Given the description of an element on the screen output the (x, y) to click on. 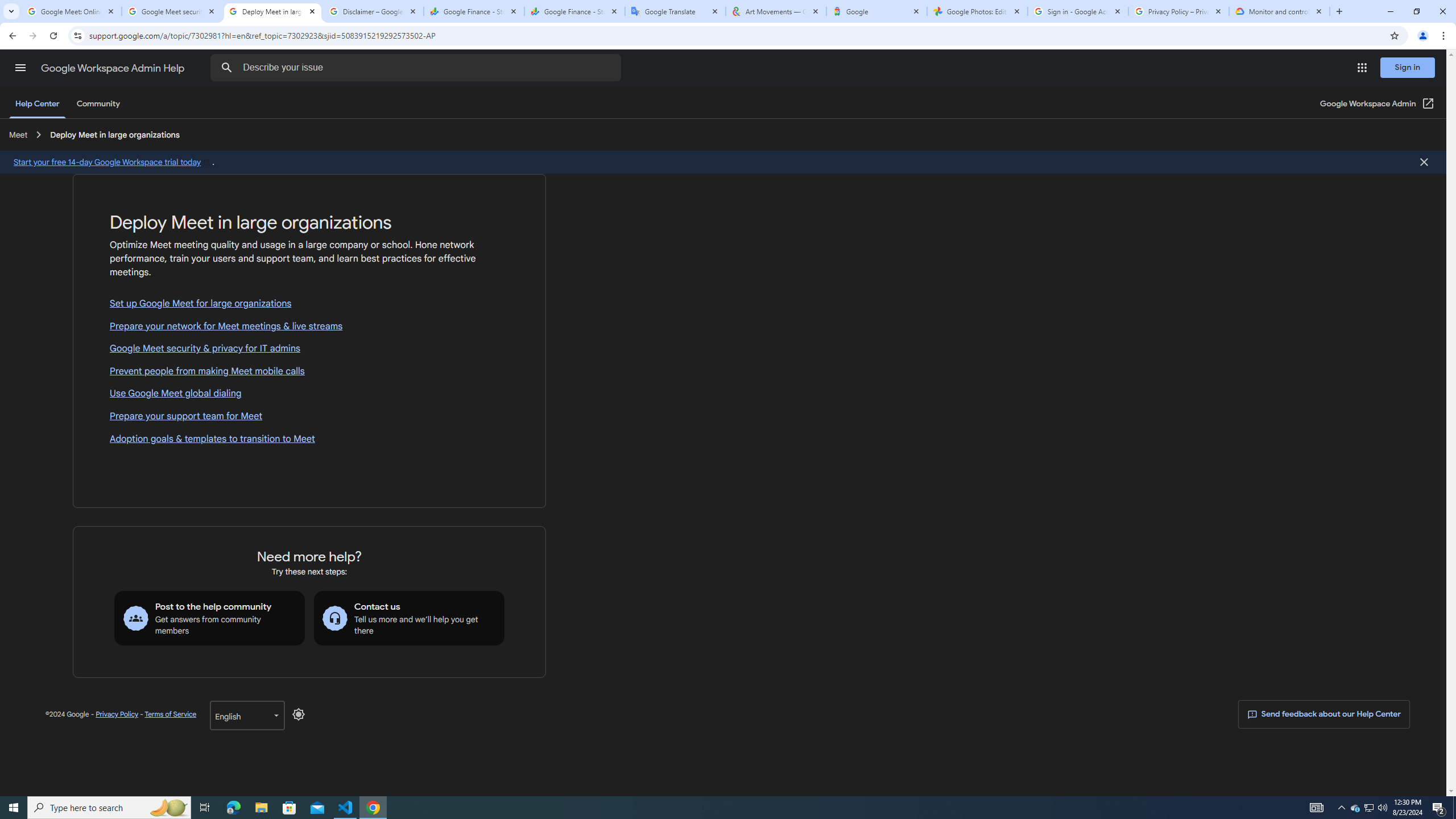
Describe your issue (417, 67)
Deploy Meet in large organizations (114, 134)
